Given the description of an element on the screen output the (x, y) to click on. 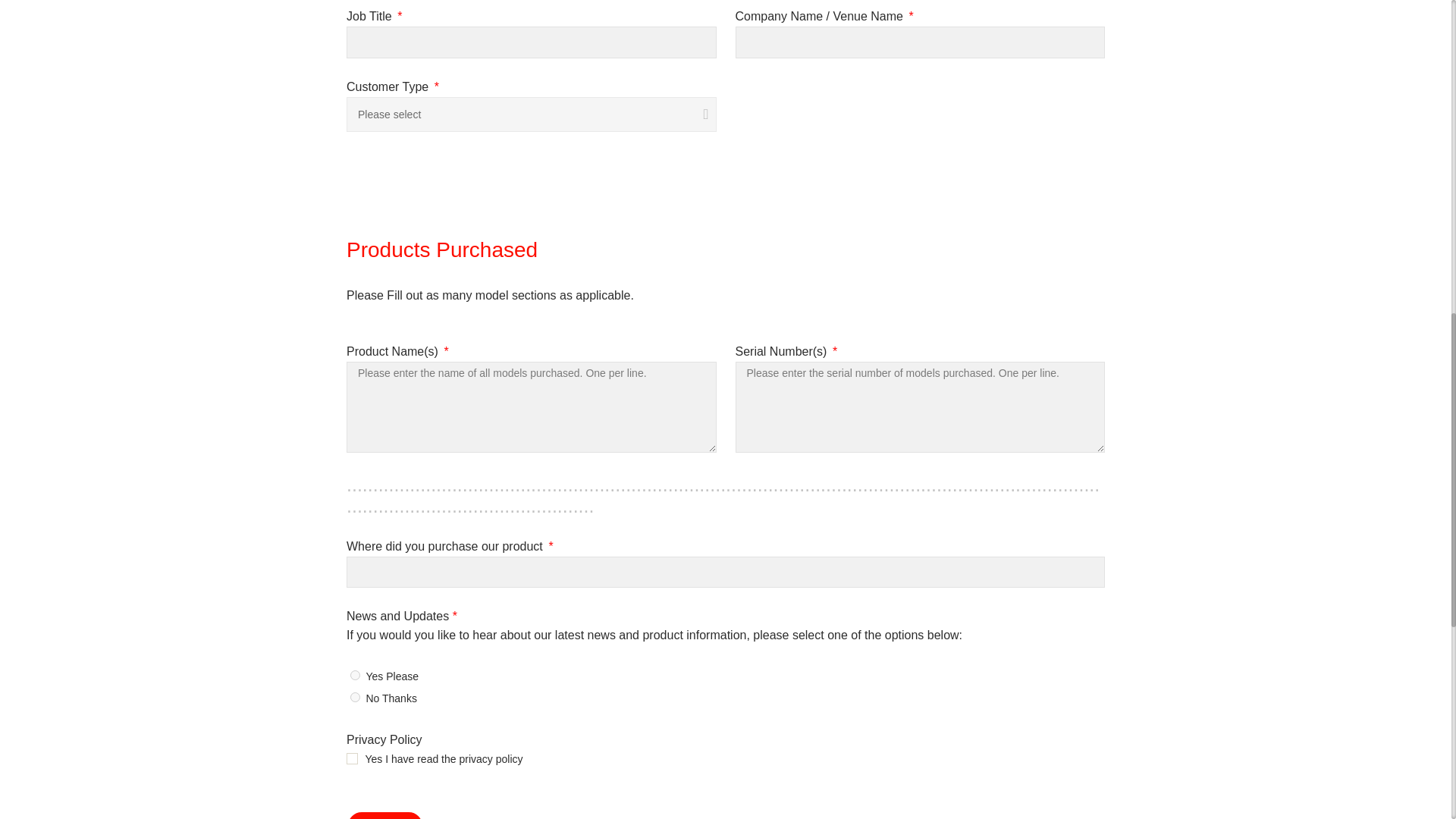
Yes Please (354, 675)
Yes I have read the privacy policy (352, 758)
No Thanks (354, 696)
